Given the description of an element on the screen output the (x, y) to click on. 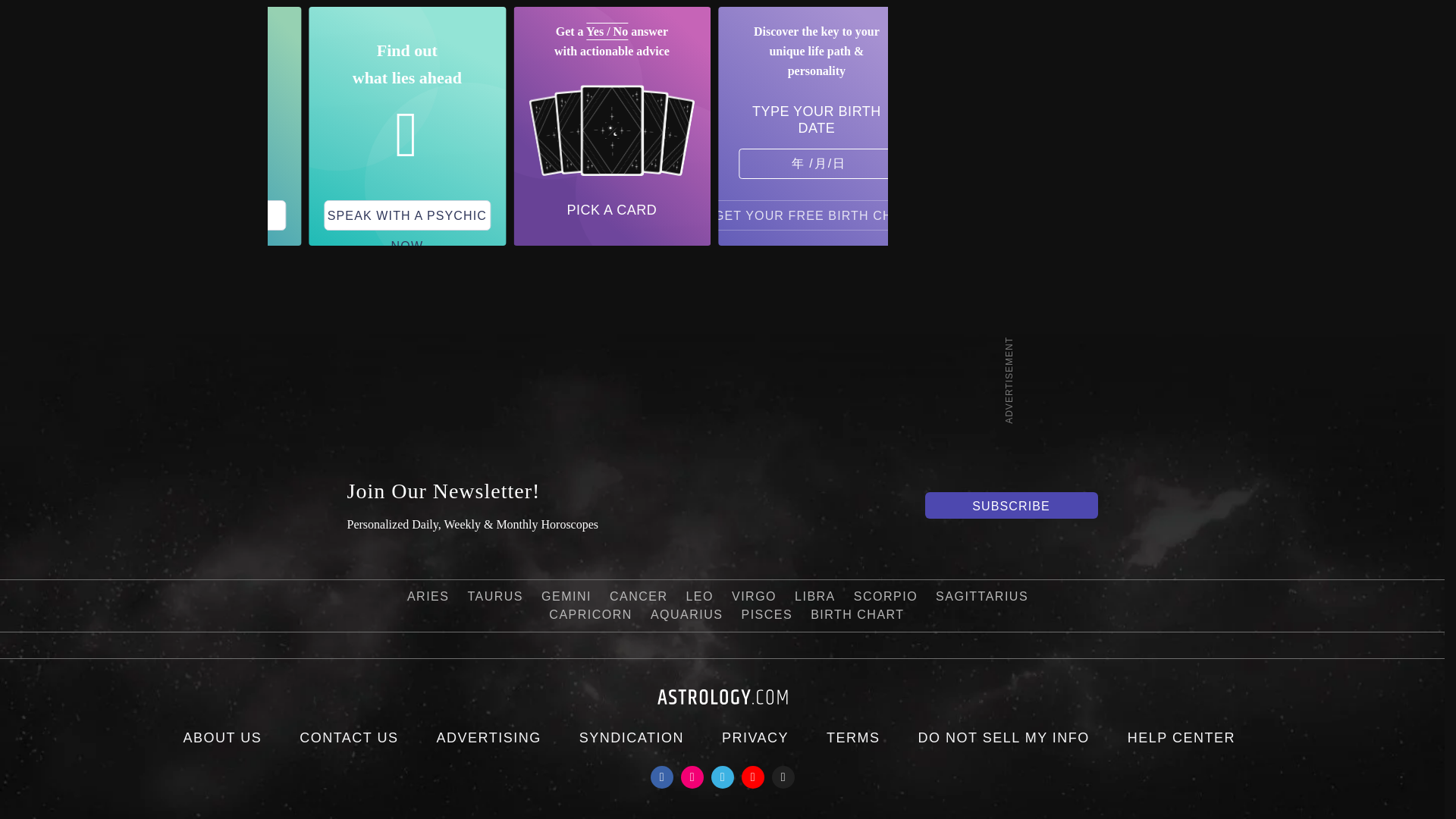
Get your free birth chart (816, 214)
